Given the description of an element on the screen output the (x, y) to click on. 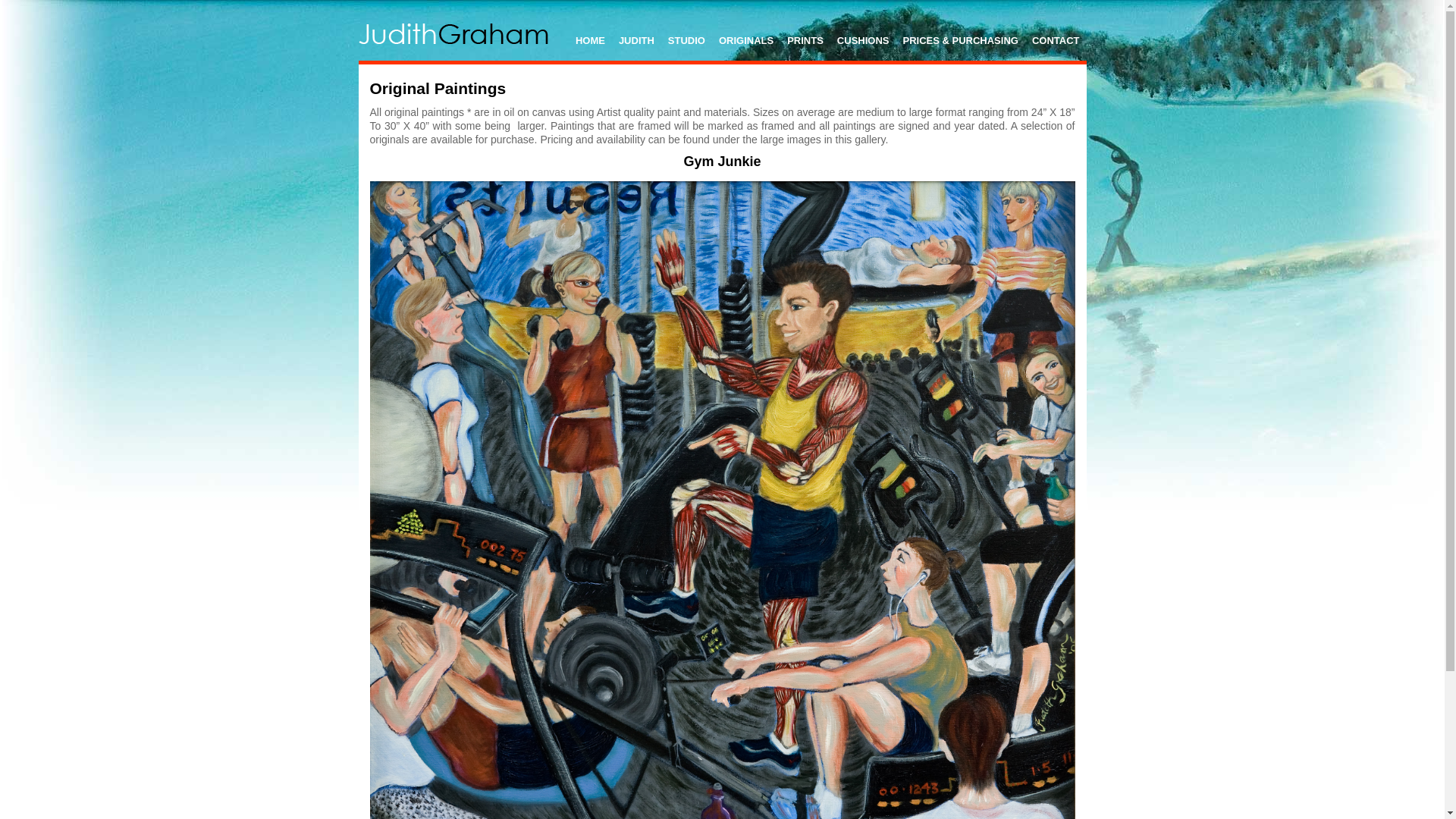
CUSHIONS Element type: text (863, 39)
CONTACT Element type: text (1055, 39)
JUDITH Element type: text (636, 39)
PRICES & PURCHASING Element type: text (959, 39)
HOME Element type: text (589, 39)
PRINTS Element type: text (805, 39)
STUDIO Element type: text (686, 39)
ORIGINALS Element type: text (746, 39)
